Given the description of an element on the screen output the (x, y) to click on. 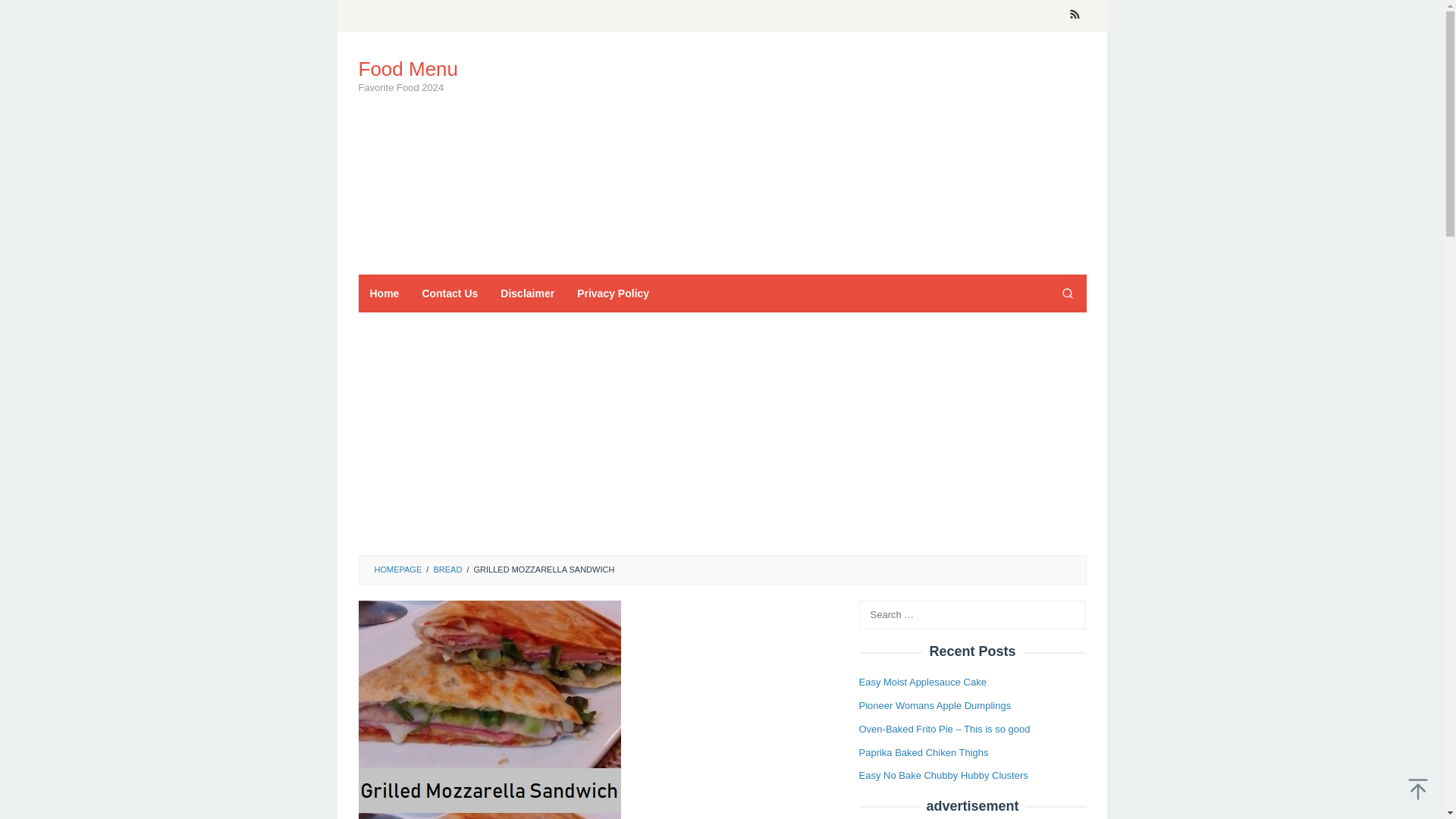
Contact Us (449, 293)
Grilled Mozzarella Sandwich (489, 709)
Search (26, 14)
Privacy Policy (613, 293)
Easy Moist Applesauce Cake (922, 681)
Search (1067, 293)
Paprika Baked Chiken Thighs (923, 752)
Disclaimer (527, 293)
Advertisement (809, 152)
Pioneer Womans Apple Dumplings (934, 705)
Home (384, 293)
HOMEPAGE (398, 569)
BREAD (446, 569)
Food Menu (408, 68)
